Given the description of an element on the screen output the (x, y) to click on. 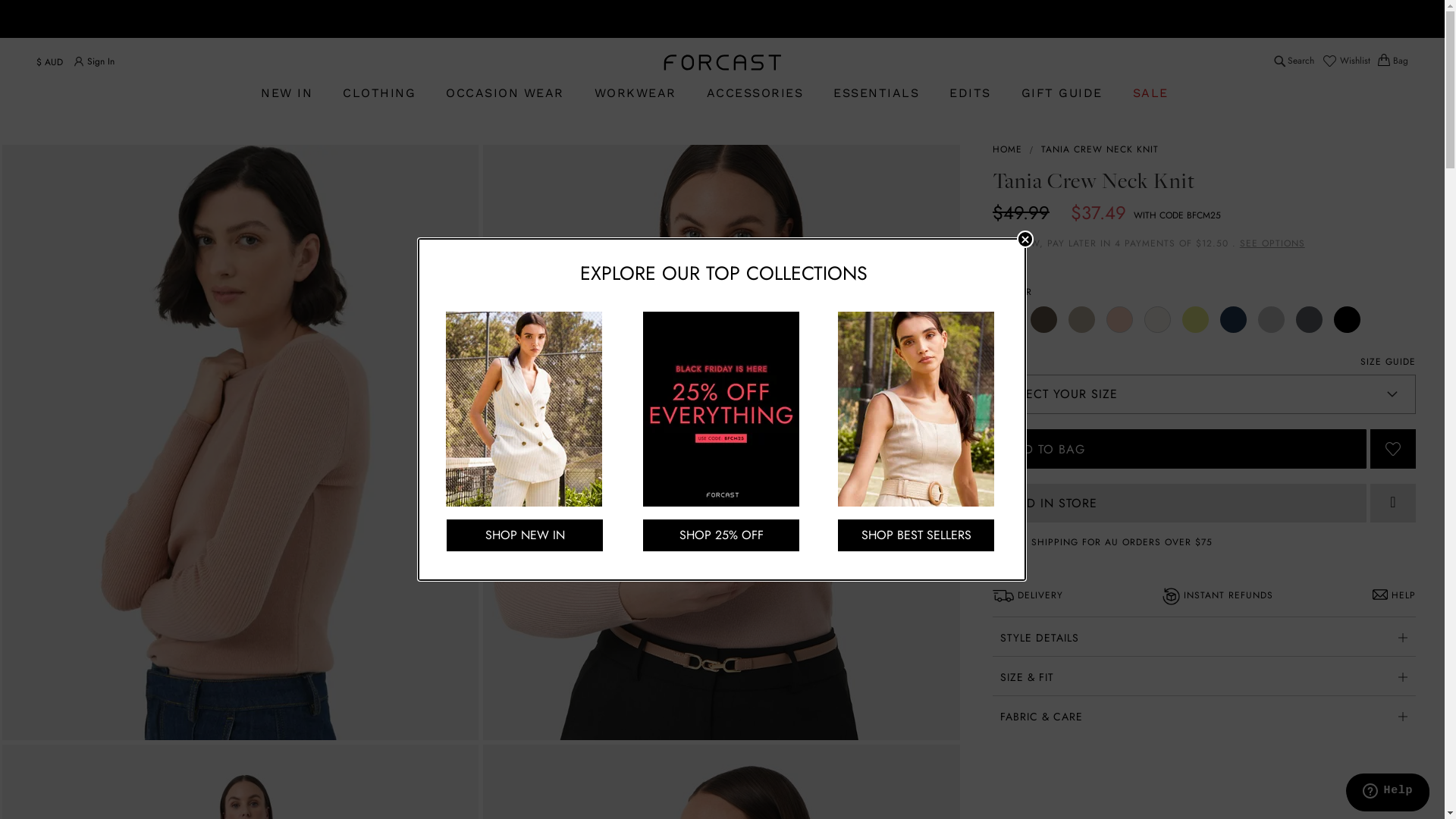
FREE SHIPPING FOR AU ORDERS OVER $75 Element type: text (1108, 541)
NEW IN Element type: text (293, 93)
SKIP TO CONTENT Element type: text (72, 44)
Forcast.com.au Logo Element type: hover (721, 62)
Find In Store Element type: text (1392, 502)
FIND IN STORE Element type: text (1179, 502)
OCCASION WEAR Element type: text (504, 93)
ADD TO BAG Element type: text (1179, 448)
EDITS Element type: text (970, 93)
Opens a widget where you can find more information Element type: hover (1387, 792)
WORKWEAR Element type: text (635, 93)
SALE Element type: text (1150, 93)
INSTANT REFUNDS WITH REFUNDID Element type: text (718, 22)
STYLE DETAILS Element type: text (1203, 635)
INSTANT REFUNDS Element type: text (1217, 595)
Forcast.com.au Logo Element type: hover (721, 62)
My Cart Element type: text (1392, 60)
DELIVERY Element type: text (1027, 595)
HOME Element type: text (1007, 149)
SEE OPTIONS Element type: text (1272, 243)
ACCESSORIES Element type: text (755, 93)
ESSENTIALS Element type: text (876, 93)
SIZE & FIT Element type: text (1203, 675)
Help Element type: text (1387, 793)
FABRIC & CARE Element type: text (1203, 714)
GIFT GUIDE Element type: text (1061, 93)
CLOTHING Element type: text (378, 92)
